Given the description of an element on the screen output the (x, y) to click on. 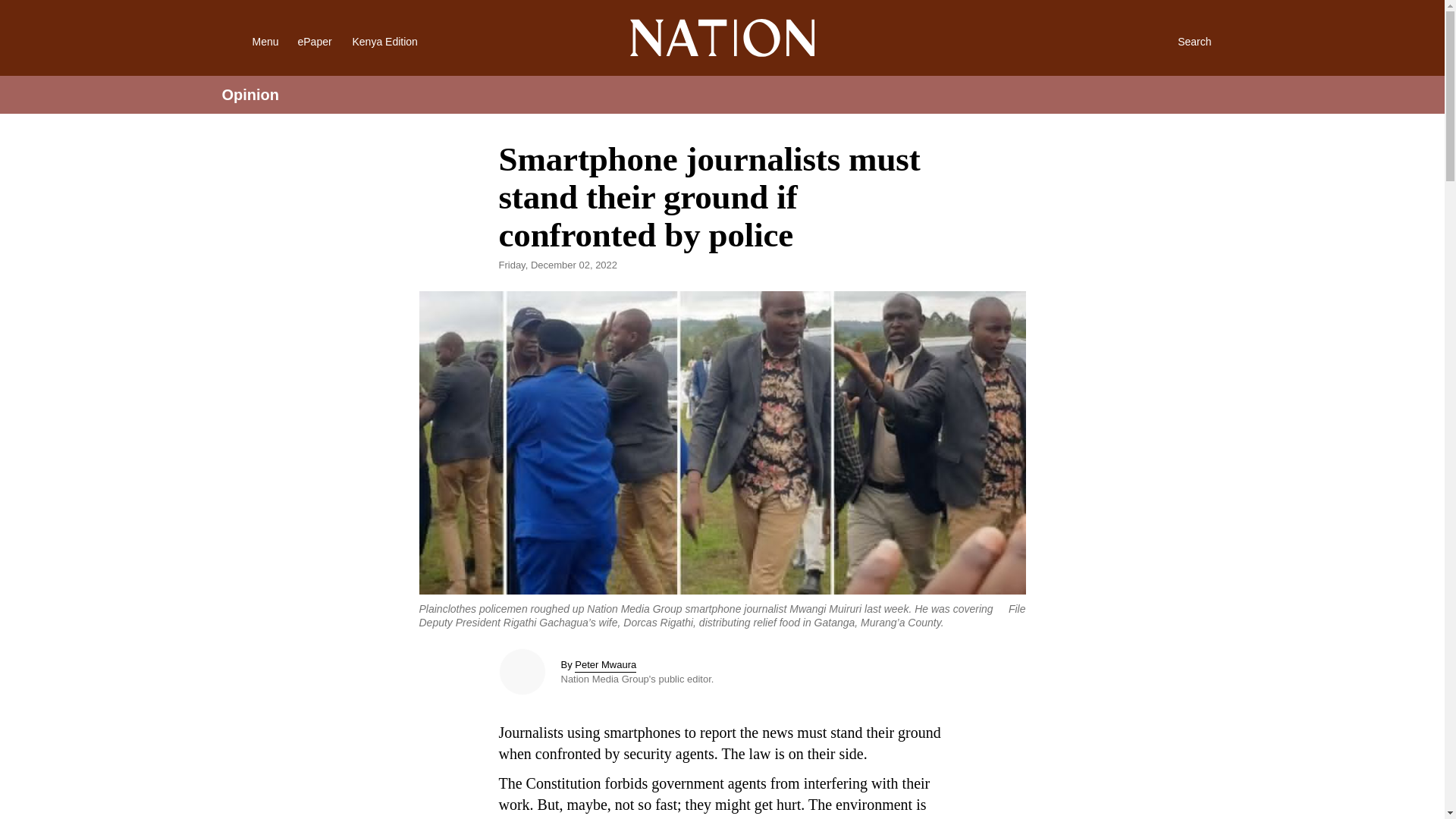
ePaper (314, 41)
Kenya Edition (398, 41)
Search (1178, 41)
Menu (246, 41)
Opinion (250, 94)
